Given the description of an element on the screen output the (x, y) to click on. 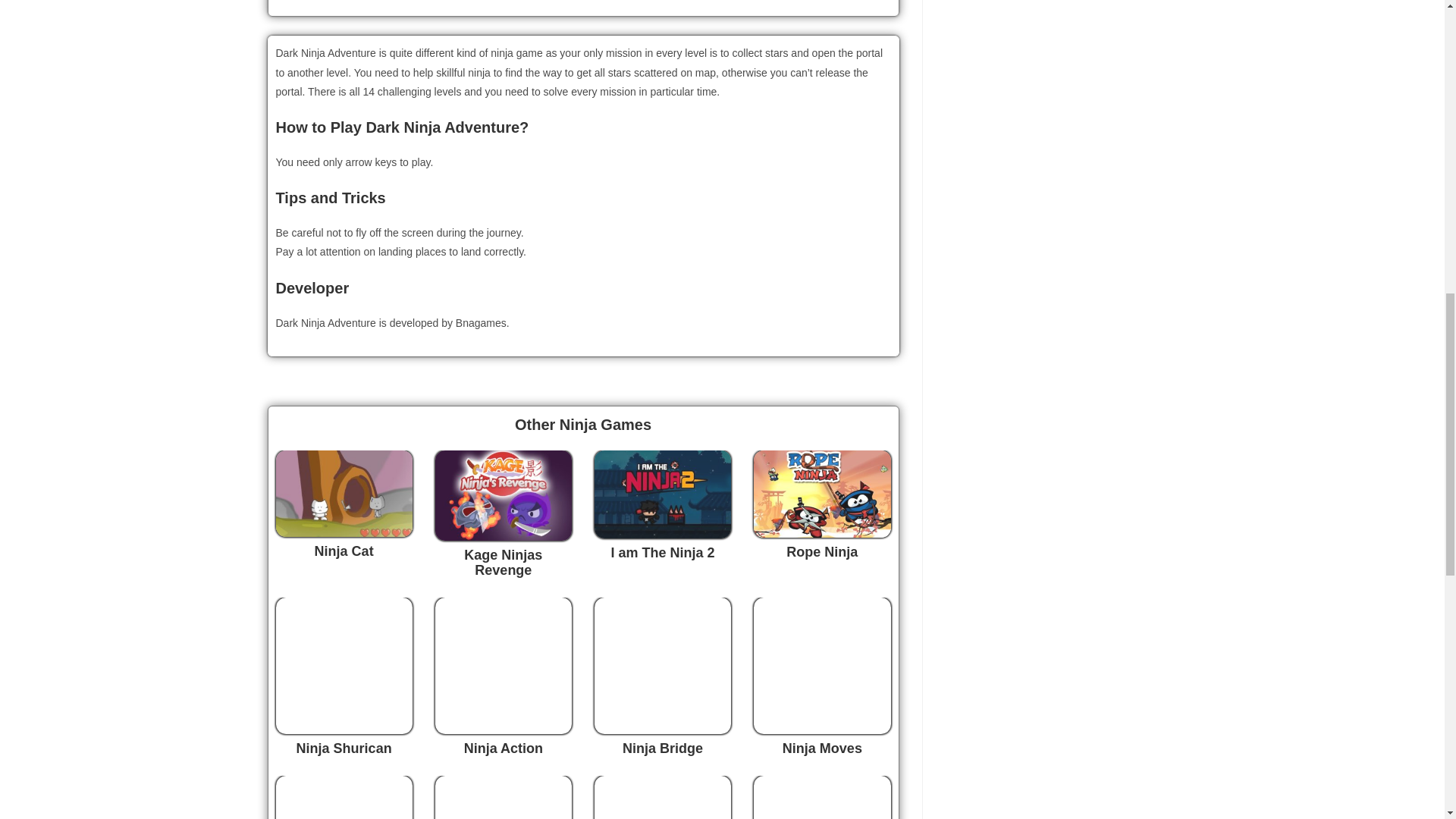
I am The Ninja 2 (662, 552)
Advertisement (1047, 98)
Ninja Cat (344, 550)
Ninja Moves (822, 748)
Ninja Action (503, 748)
Rope Ninja (821, 551)
Kage Ninjas Revenge (502, 562)
Ninja Shurican (344, 748)
Ninja Bridge (663, 748)
